Given the description of an element on the screen output the (x, y) to click on. 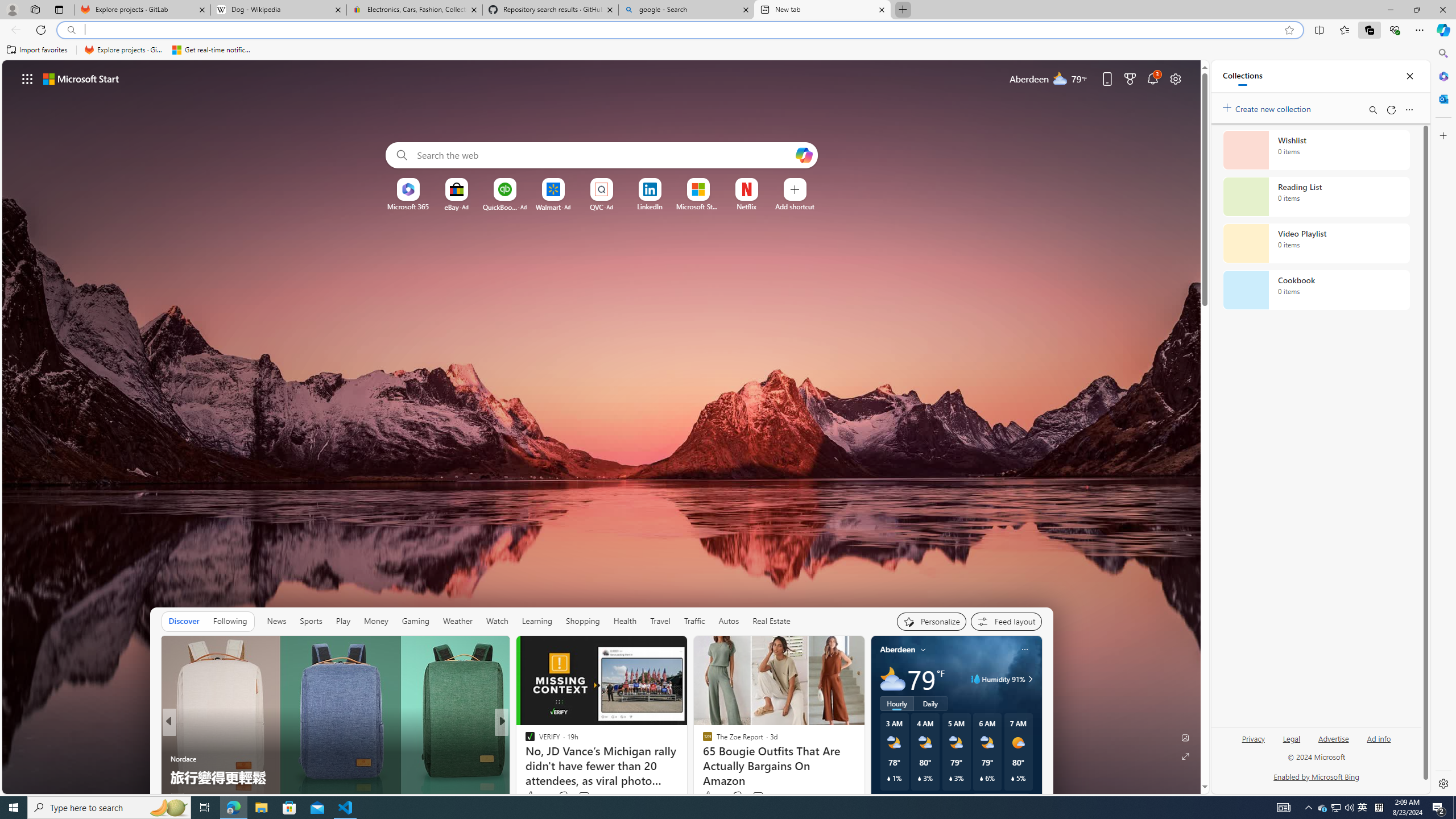
See full forecast (1000, 799)
Byrdie (524, 758)
667 Like (532, 796)
Create new collection (1268, 106)
View comments 142 Comment (576, 797)
NBC News (524, 740)
14 Like (180, 796)
View comments 38 Comment (581, 796)
View comments 18 Comment (585, 796)
Mostly cloudy (892, 678)
